Given the description of an element on the screen output the (x, y) to click on. 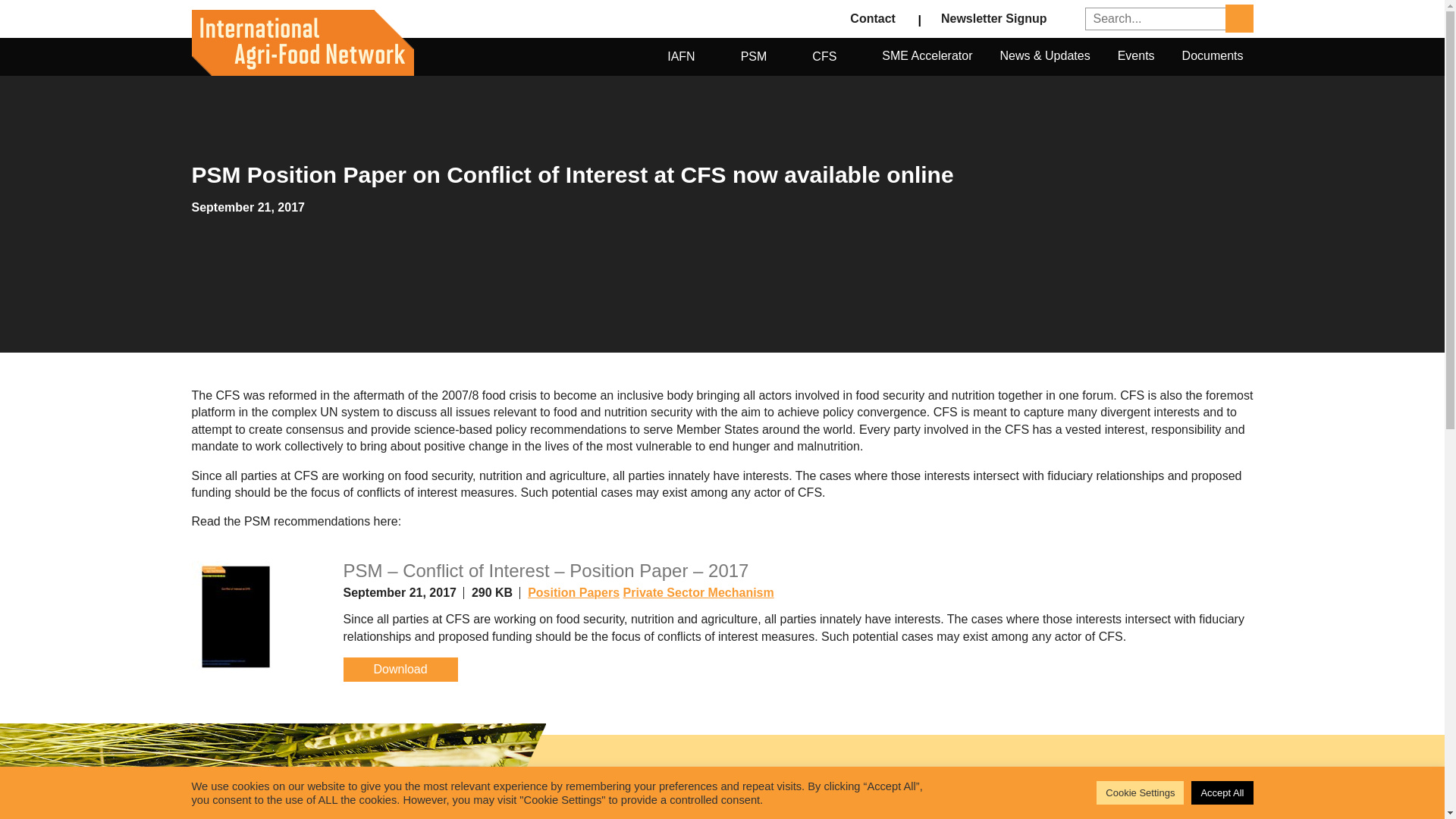
Contact (872, 19)
PSM (762, 56)
IAFN (690, 56)
Newsletter Signup (994, 19)
CFS (833, 56)
Search (1239, 18)
